Given the description of an element on the screen output the (x, y) to click on. 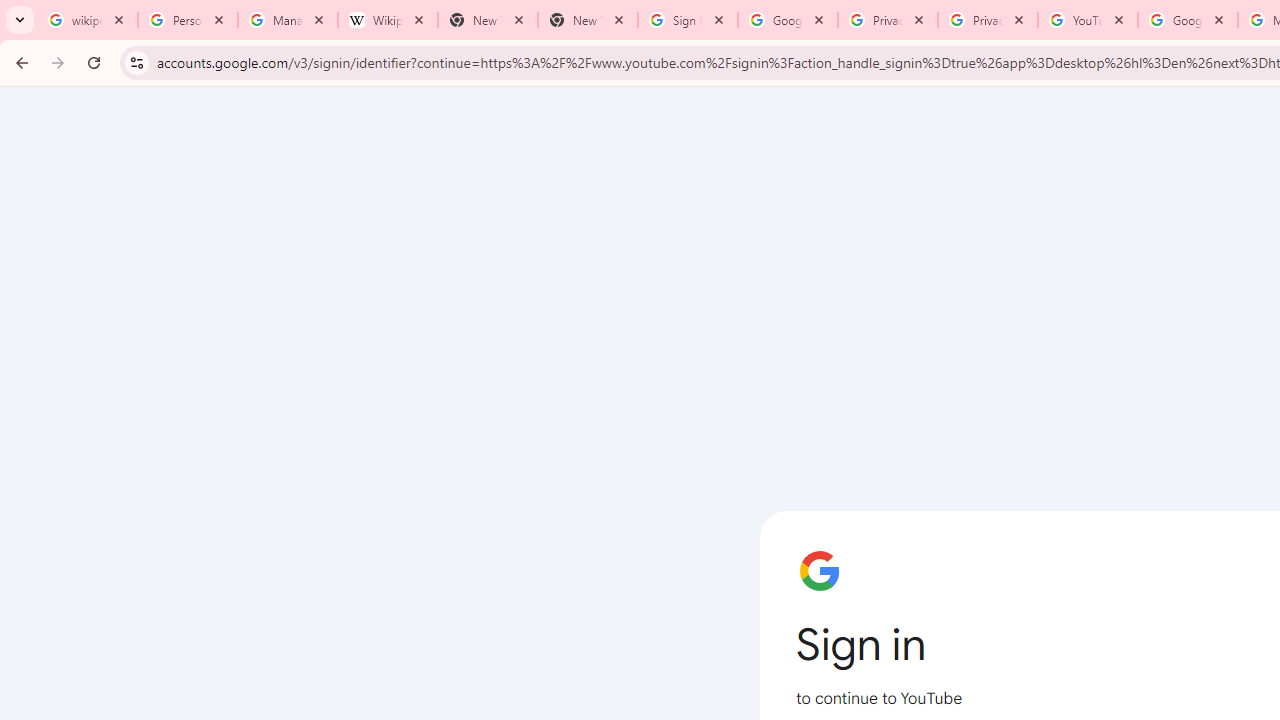
Wikipedia:Edit requests - Wikipedia (387, 20)
Google Drive: Sign-in (788, 20)
